Given the description of an element on the screen output the (x, y) to click on. 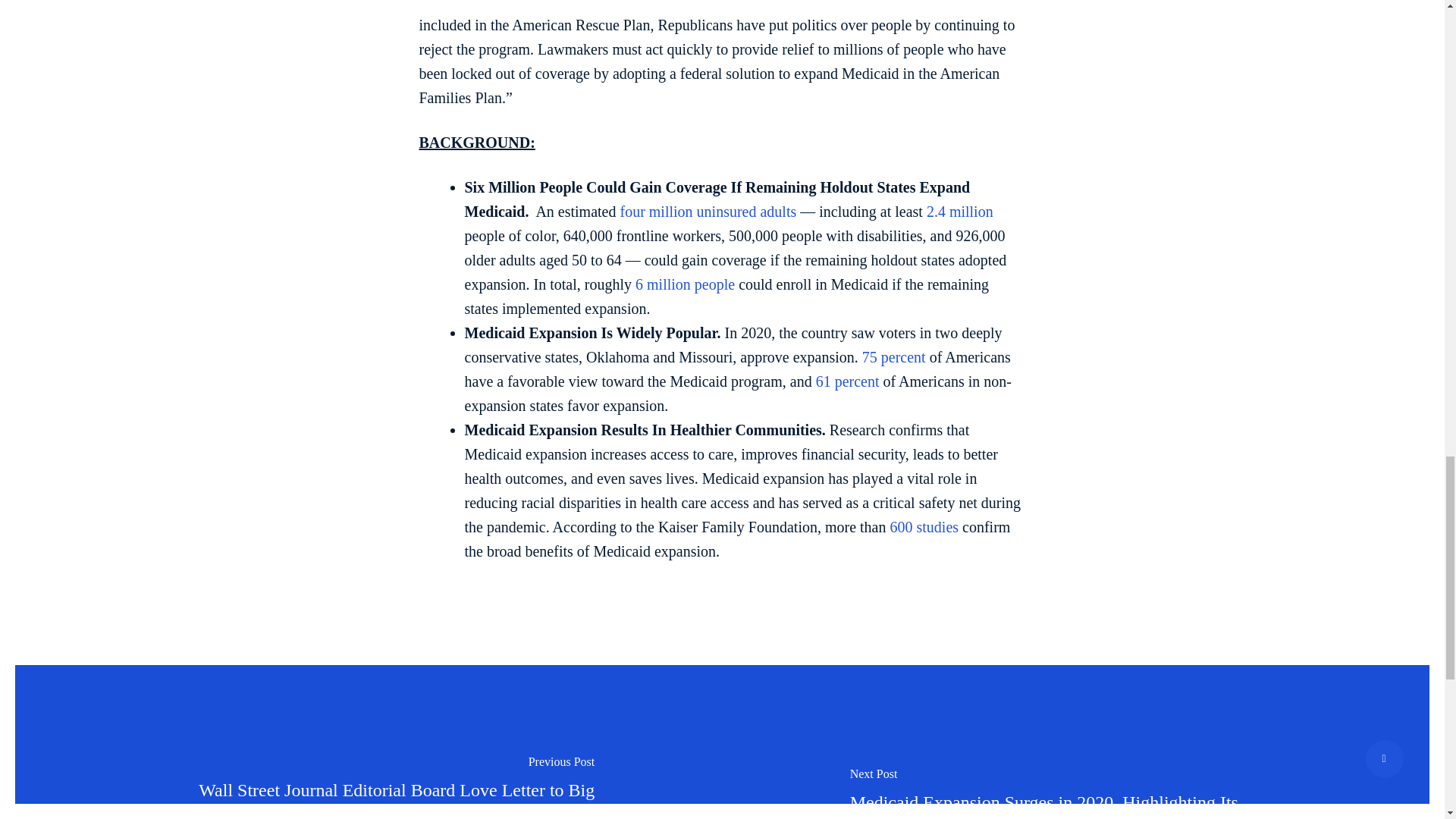
75 percent (893, 356)
2.4 million (959, 211)
6 million people (684, 284)
61 percent (847, 381)
600 studies (924, 526)
four million uninsured adults (708, 211)
